Given the description of an element on the screen output the (x, y) to click on. 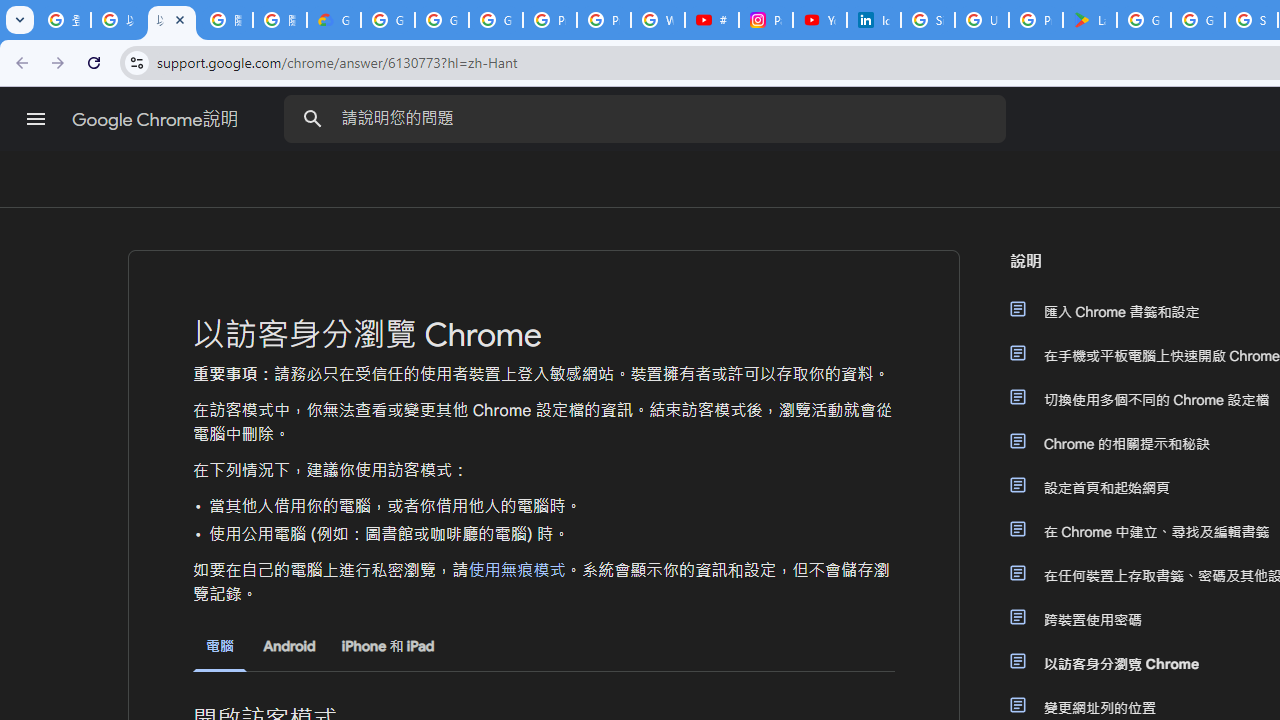
Android (288, 646)
YouTube Culture & Trends - On The Rise: Handcam Videos (819, 20)
Google Workspace - Specific Terms (1197, 20)
